Given the description of an element on the screen output the (x, y) to click on. 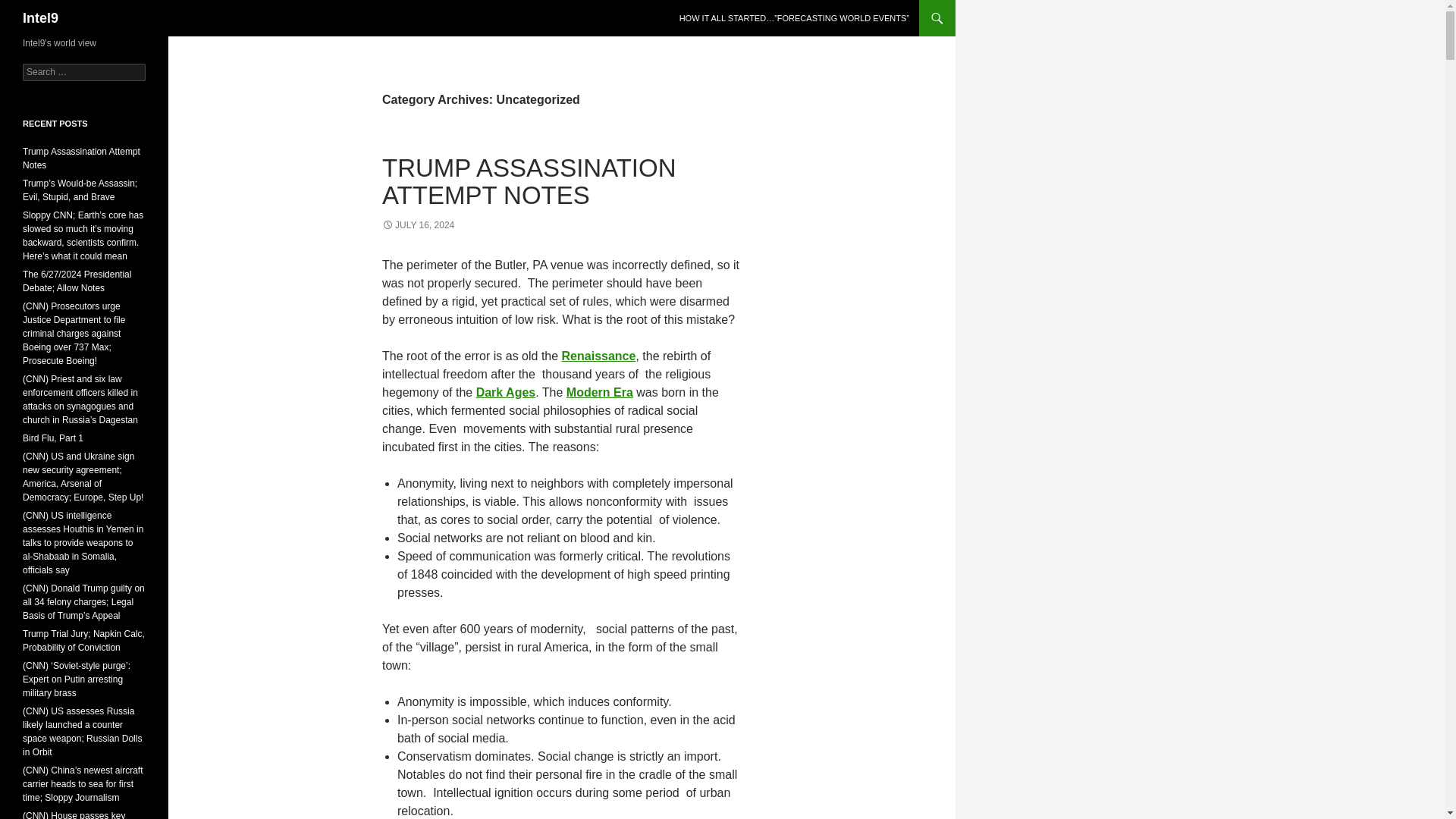
JULY 16, 2024 (417, 225)
Intel9 (40, 18)
TRUMP ASSASSINATION ATTEMPT NOTES (529, 181)
Renaissance (599, 355)
Modern Era (599, 391)
Dark Ages (505, 391)
